Given the description of an element on the screen output the (x, y) to click on. 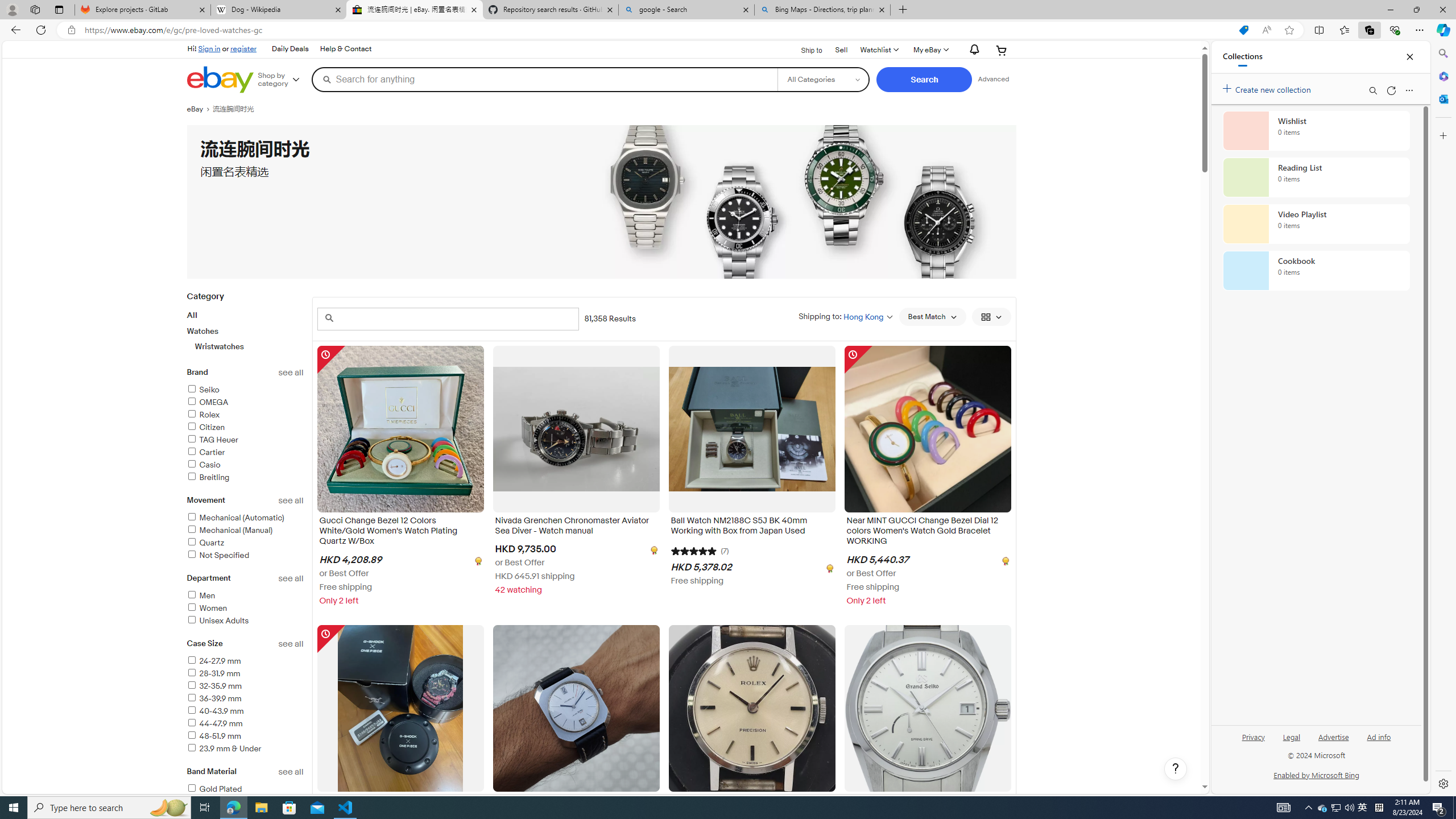
eBay Home (219, 79)
Help & Contact (345, 49)
WatchesWristwatches (245, 338)
OMEGA (207, 402)
Breitling (245, 477)
44-47.9 mm (214, 723)
